Given the description of an element on the screen output the (x, y) to click on. 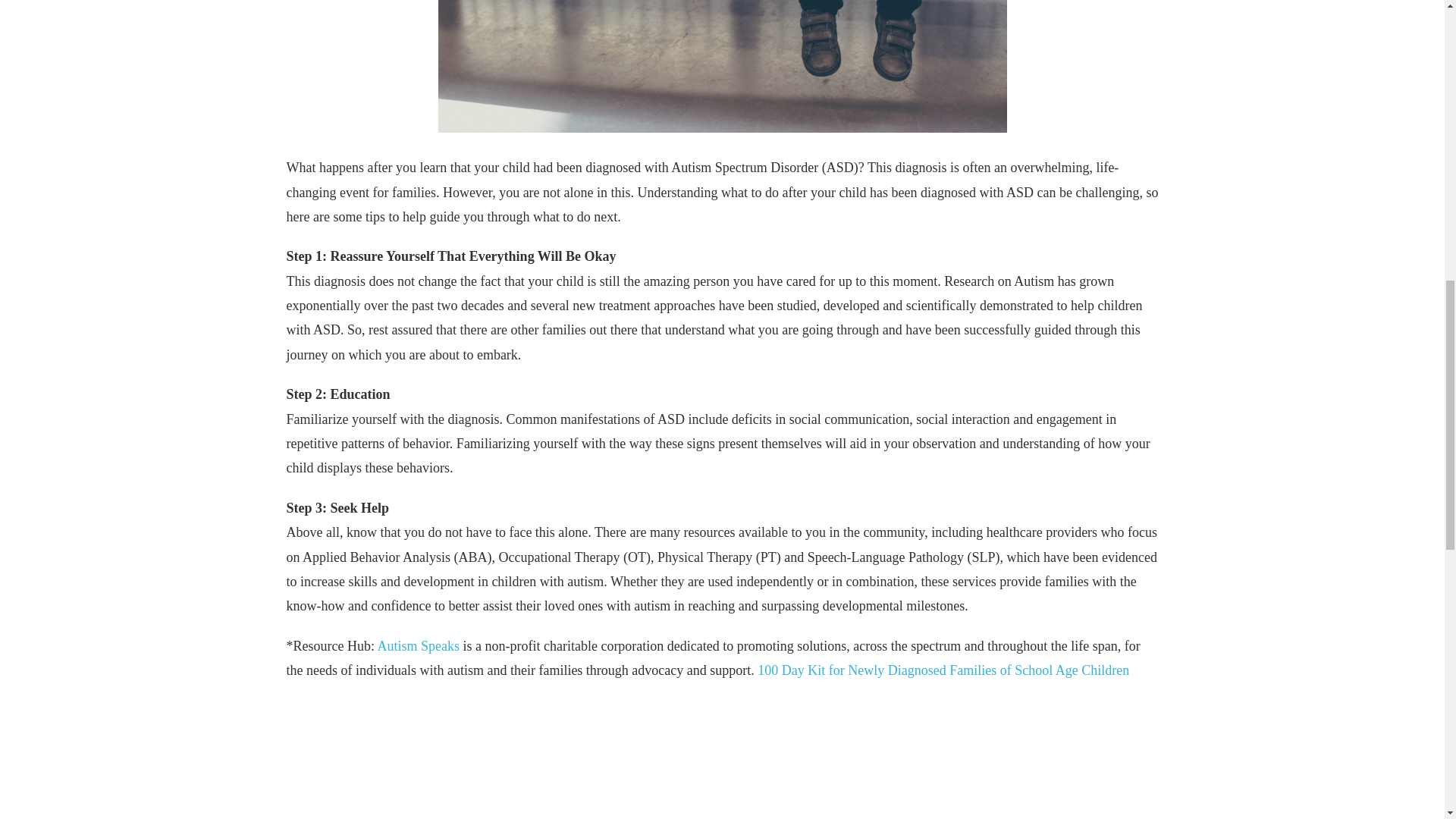
View Larger Image (722, 66)
YouTube video player 1 (722, 758)
Autism Speaks (418, 645)
